Given the description of an element on the screen output the (x, y) to click on. 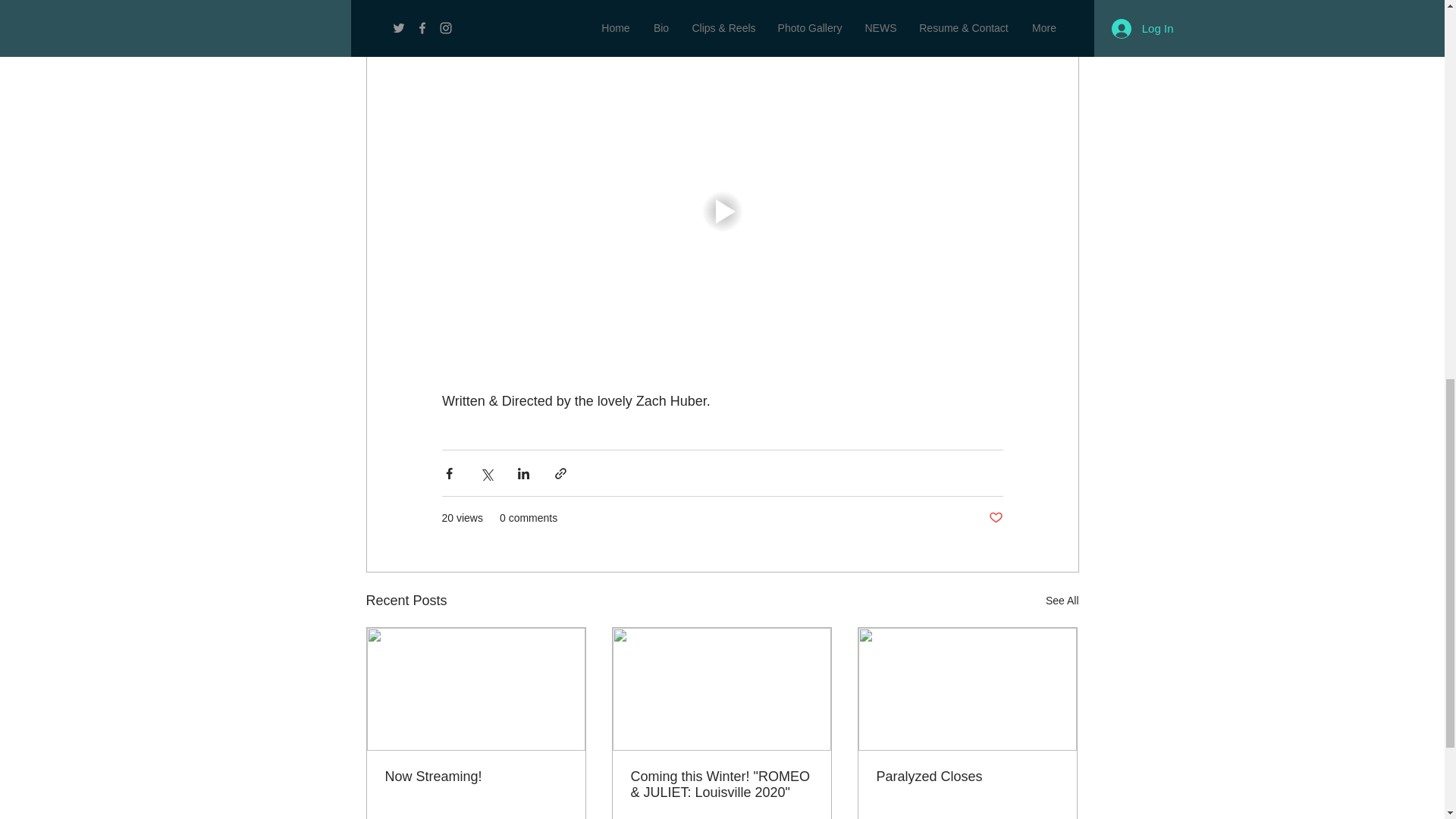
Paralyzed Closes (967, 776)
See All (1061, 600)
Post not marked as liked (995, 518)
Now Streaming! (476, 776)
